Given the description of an element on the screen output the (x, y) to click on. 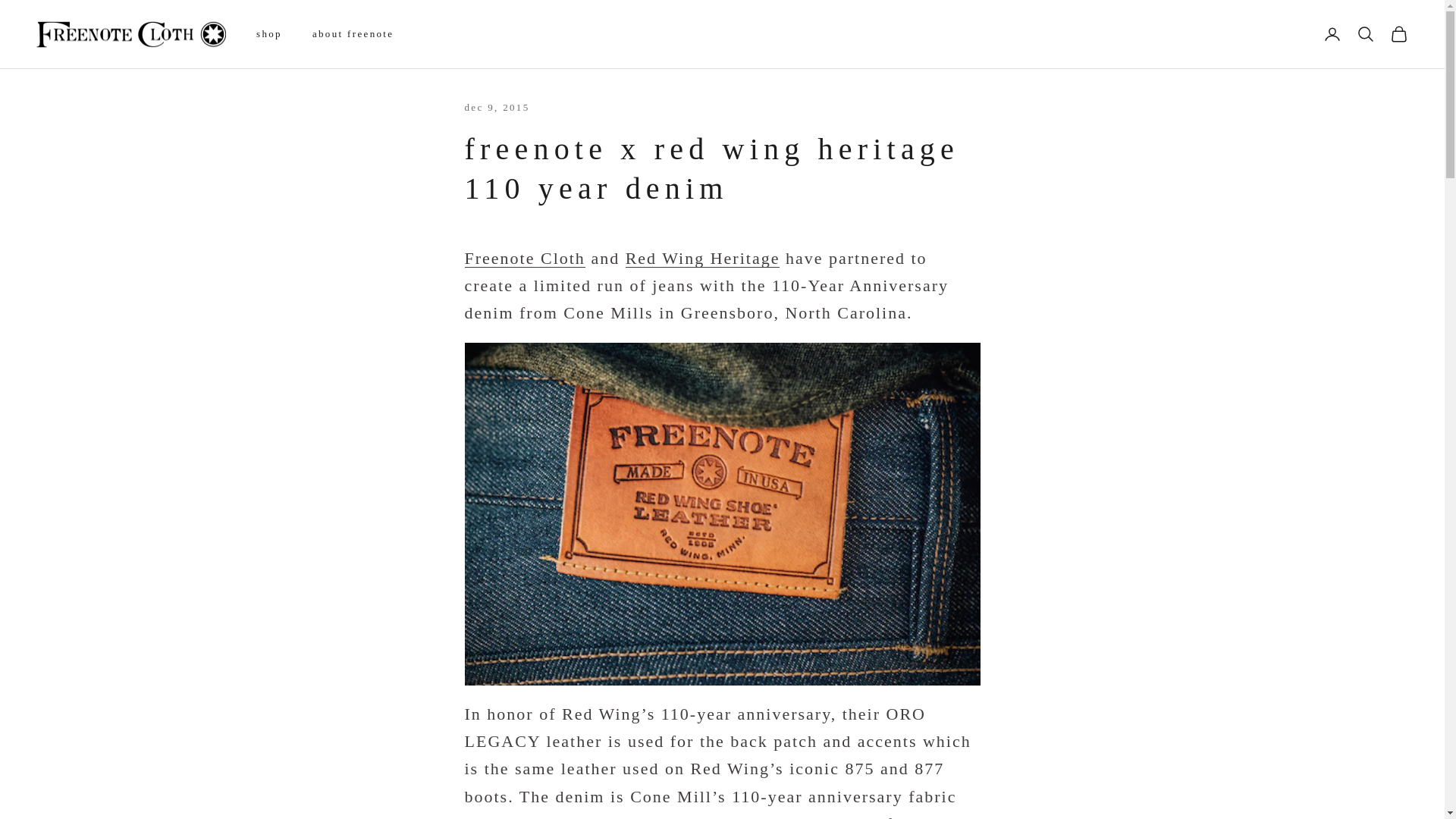
Open search (1365, 34)
Open cart (1398, 34)
Open account page (1331, 34)
Freenote Cloth (130, 34)
